Given the description of an element on the screen output the (x, y) to click on. 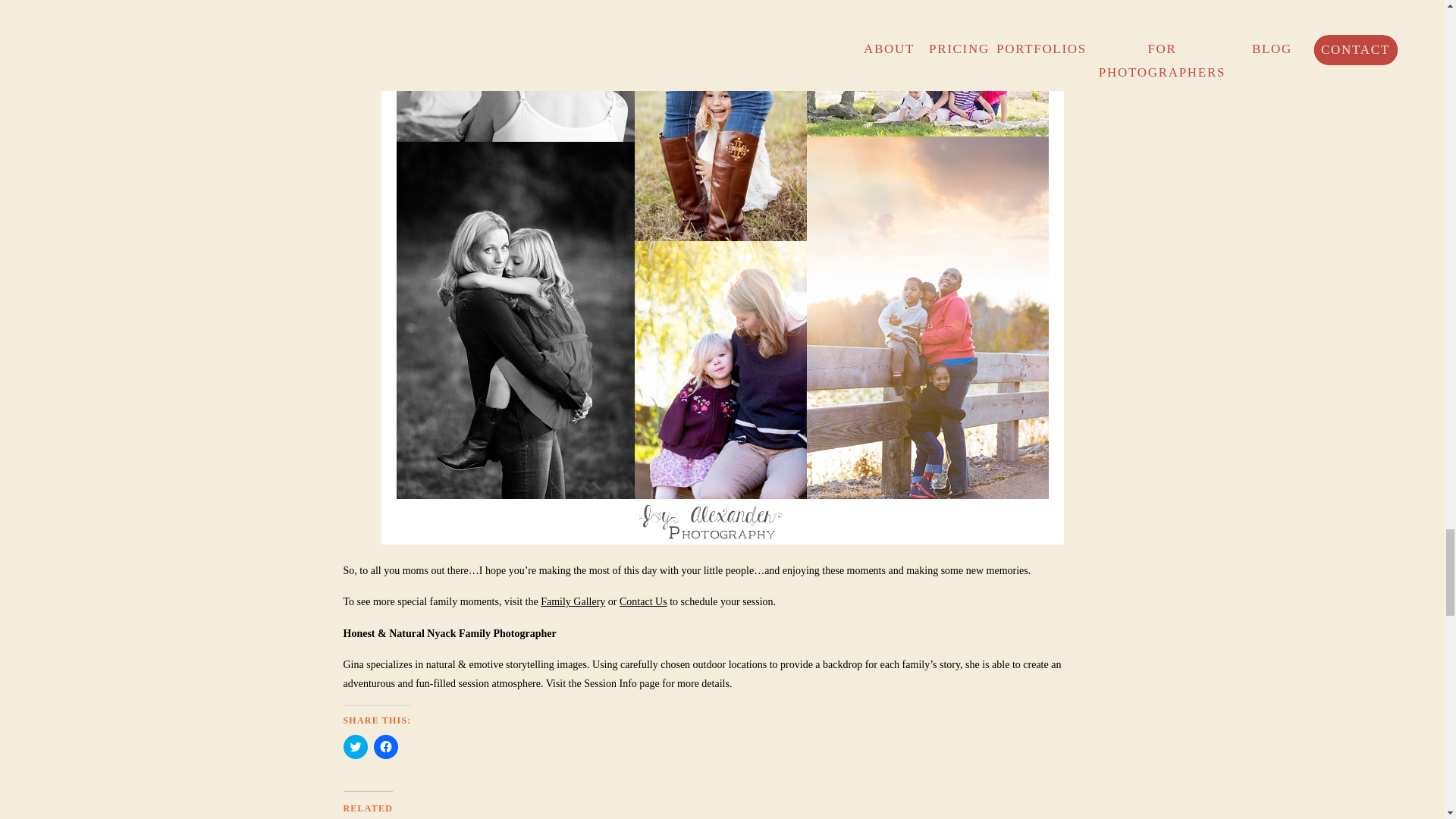
Family (572, 601)
Contact (643, 601)
Click to share on Twitter (354, 746)
Click to share on Facebook (384, 746)
Contact Us (643, 601)
Family Gallery (572, 601)
